Given the description of an element on the screen output the (x, y) to click on. 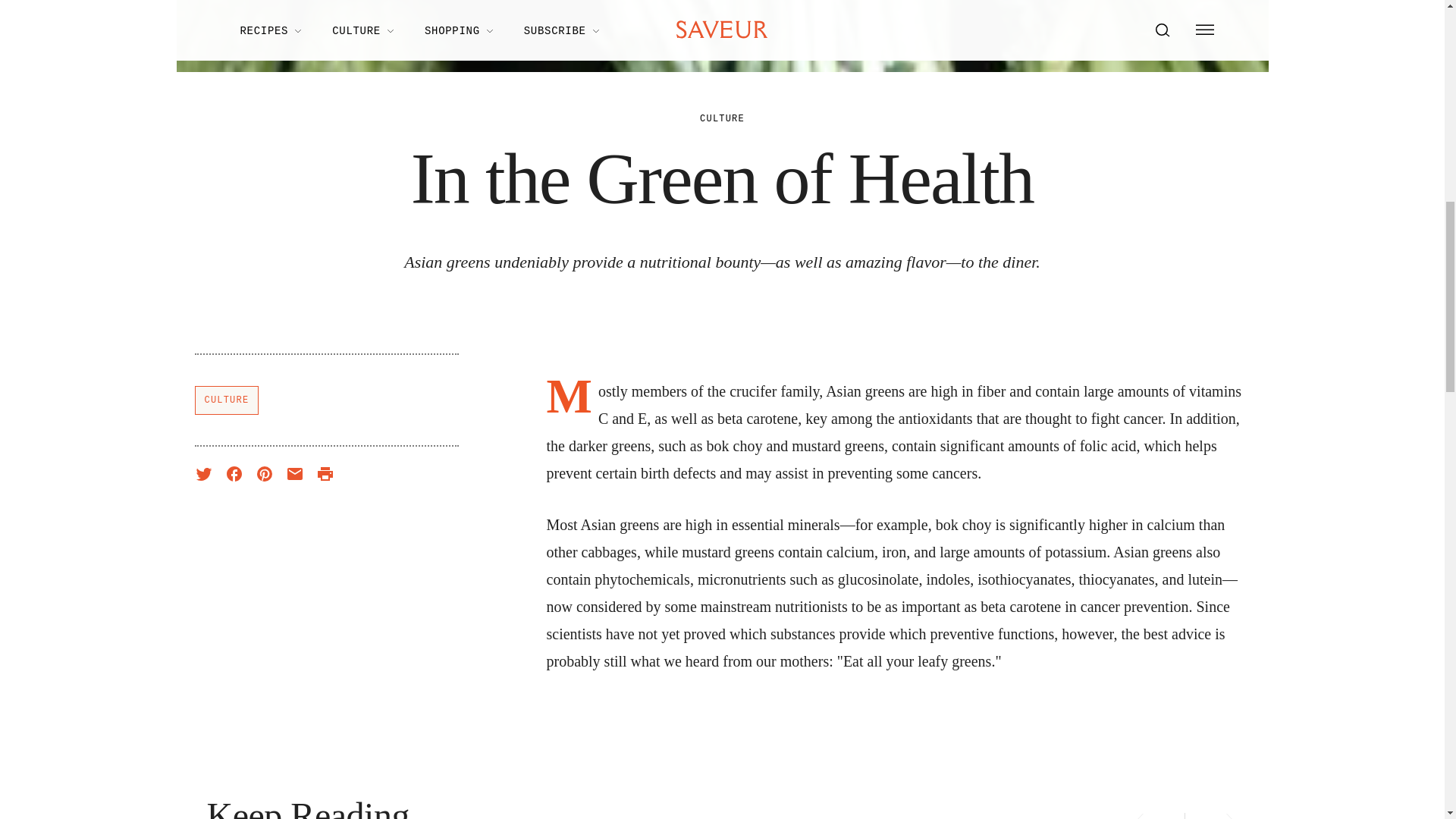
CULTURE (226, 399)
Share on Facebook (233, 474)
Share on Twitter (202, 474)
CULTURE (722, 118)
